Given the description of an element on the screen output the (x, y) to click on. 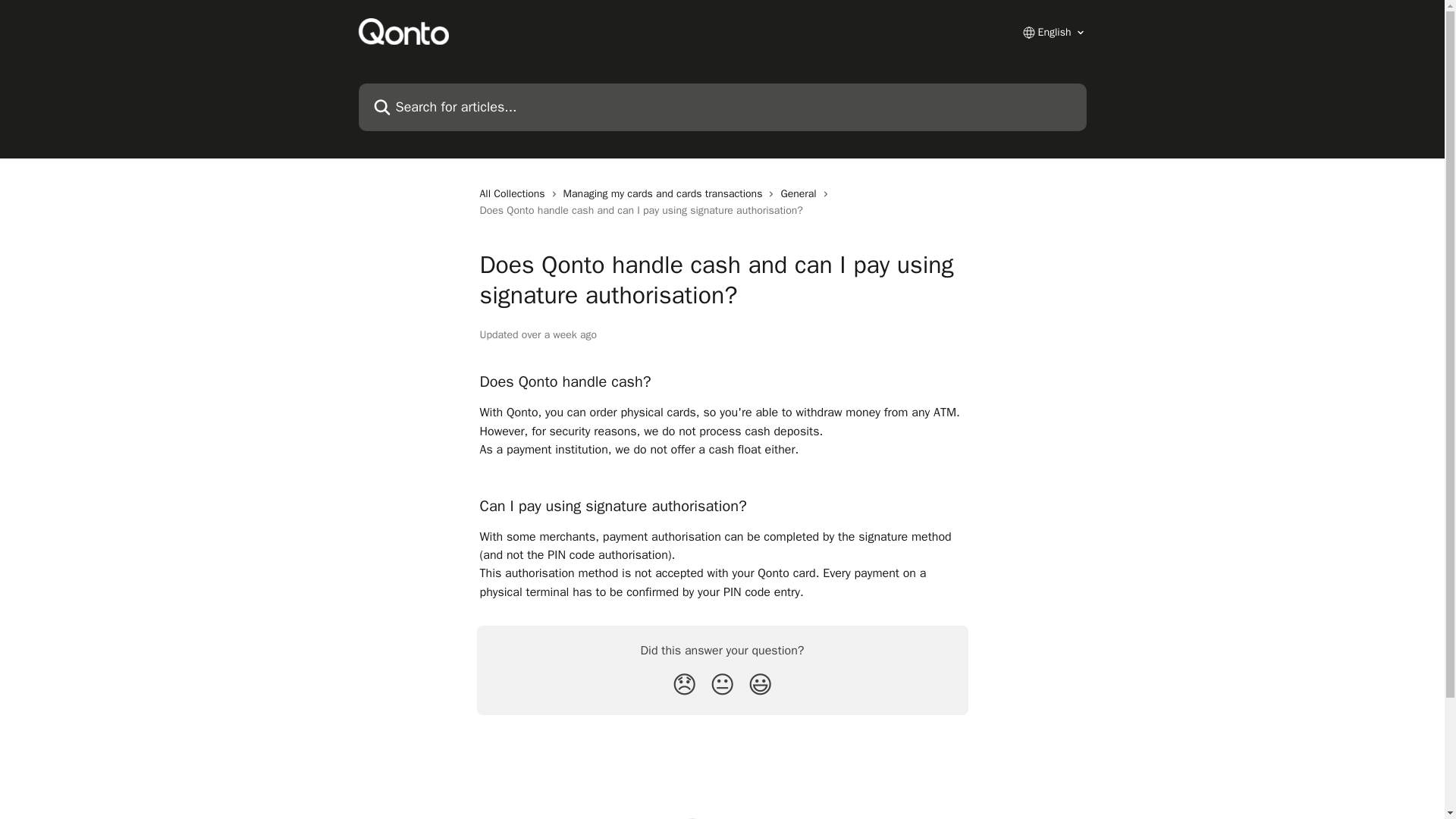
Managing my cards and cards transactions (665, 193)
General (801, 193)
All Collections (514, 193)
